Given the description of an element on the screen output the (x, y) to click on. 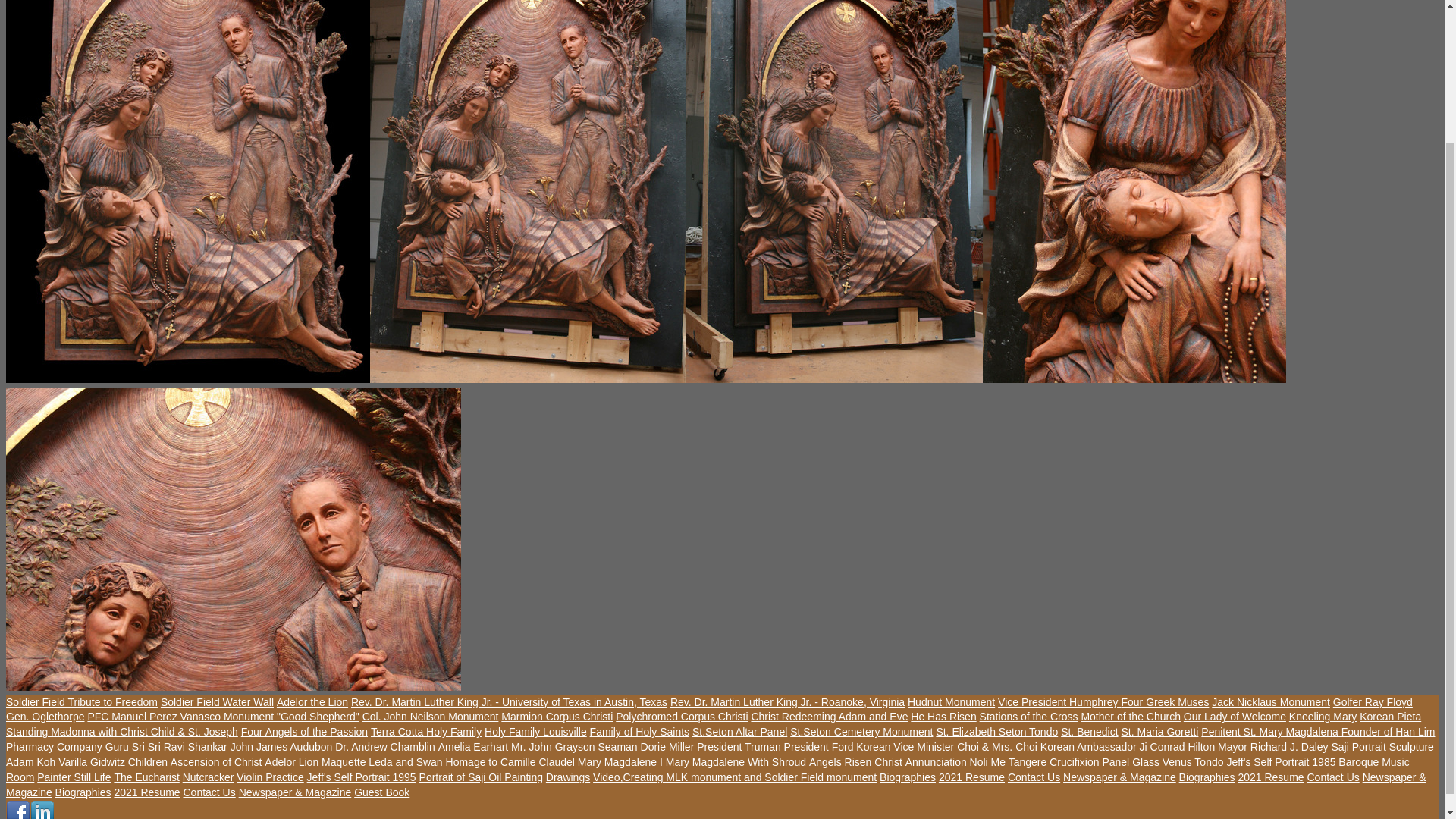
He Has Risen (943, 716)
Polychromed Corpus Christi (681, 716)
Gen. Oglethorpe (44, 716)
Kneeling Mary (1322, 716)
Col. John Neilson Monument (430, 716)
Soldier Field Tribute to Freedom (81, 702)
St. Benedict (1089, 731)
Christ Redeeming Adam and Eve (829, 716)
PFC Manuel Perez (133, 716)
Four Angels of the Passion (304, 731)
PFC Manuel Perez  (133, 716)
St. Elizabeth Seton Tondo (997, 731)
Soldier Field Tribute to Freedom (81, 702)
Terra Cotta Holy Family (426, 731)
Jack Nicklaus Monument (1270, 702)
